Given the description of an element on the screen output the (x, y) to click on. 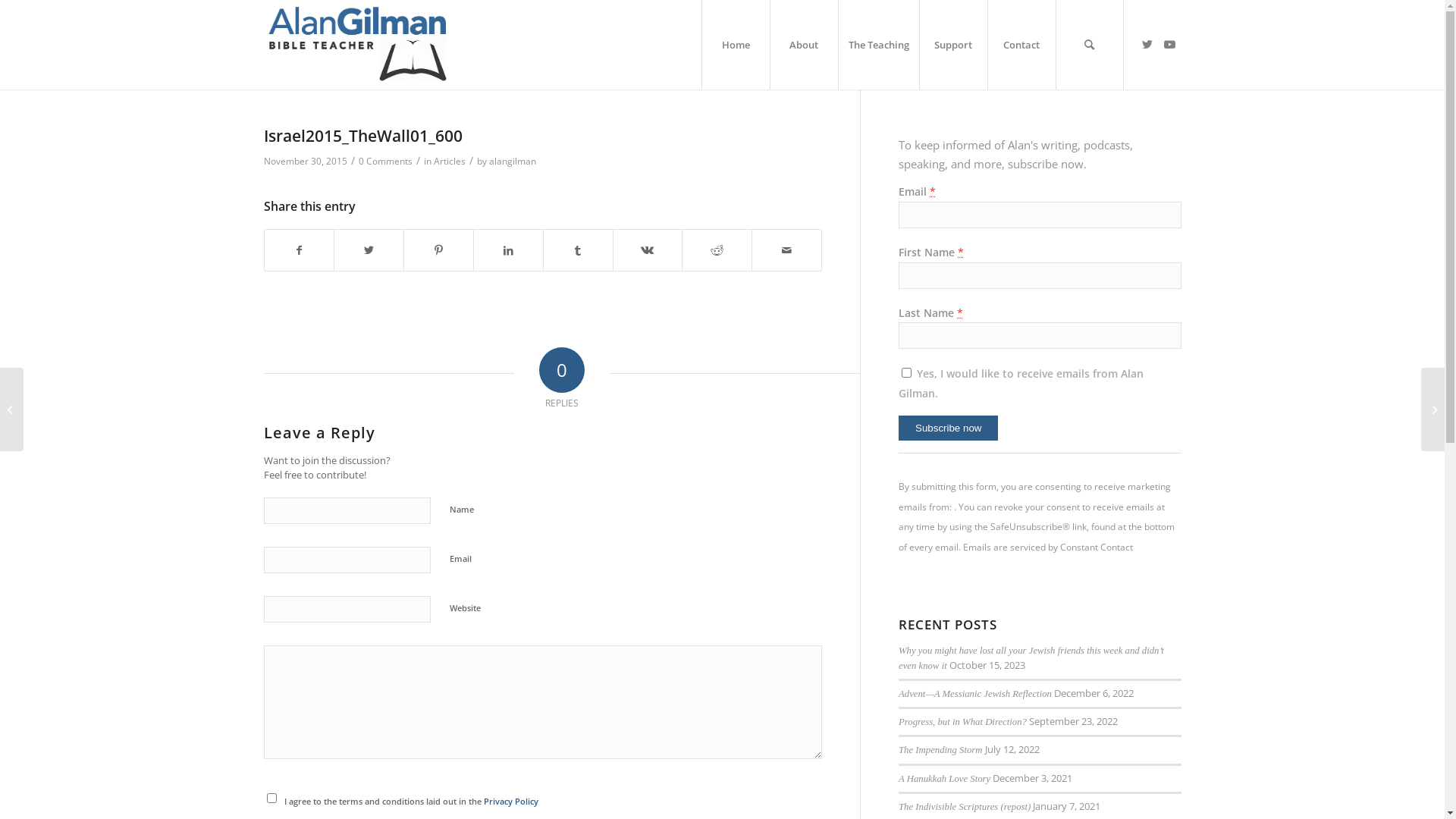
Emails are serviced by Constant Contact Element type: text (1047, 546)
Contact Element type: text (1021, 44)
The Impending Storm Element type: text (940, 749)
Alan-Gilman_LOGO-2 Element type: hover (357, 44)
Support Element type: text (953, 44)
A Hanukkah Love Story Element type: text (944, 778)
Progress, but in What Direction? Element type: text (962, 721)
Privacy Policy Element type: text (510, 800)
0 Comments Element type: text (384, 160)
The Teaching Element type: text (877, 44)
Subscribe now Element type: text (947, 427)
About Element type: text (802, 44)
Youtube Element type: hover (1169, 43)
Home Element type: text (734, 44)
The Indivisible Scriptures (repost) Element type: text (964, 806)
Articles Element type: text (449, 160)
Twitter Element type: hover (1146, 43)
alangilman Element type: text (511, 160)
